Given the description of an element on the screen output the (x, y) to click on. 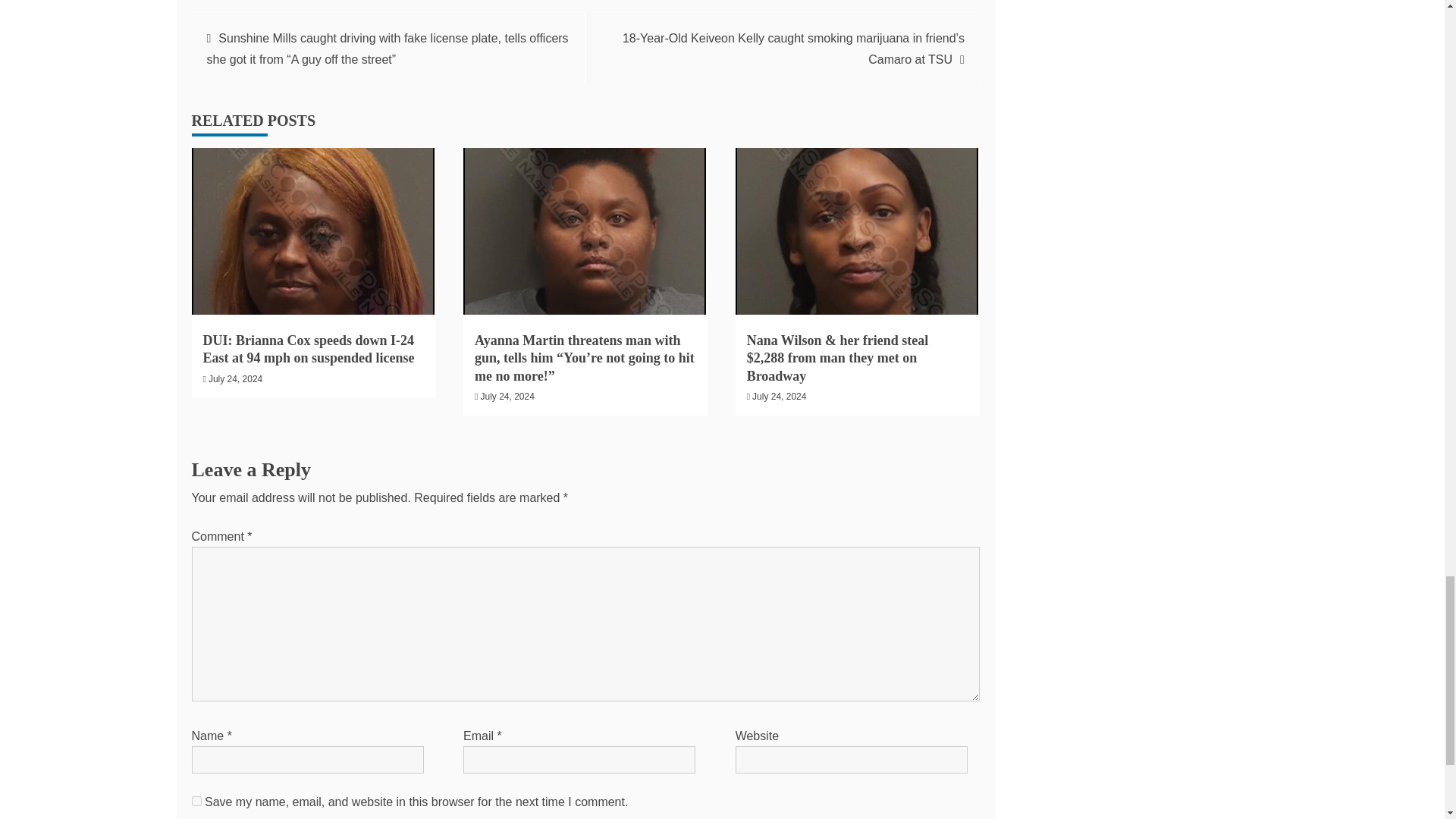
yes (195, 800)
